Given the description of an element on the screen output the (x, y) to click on. 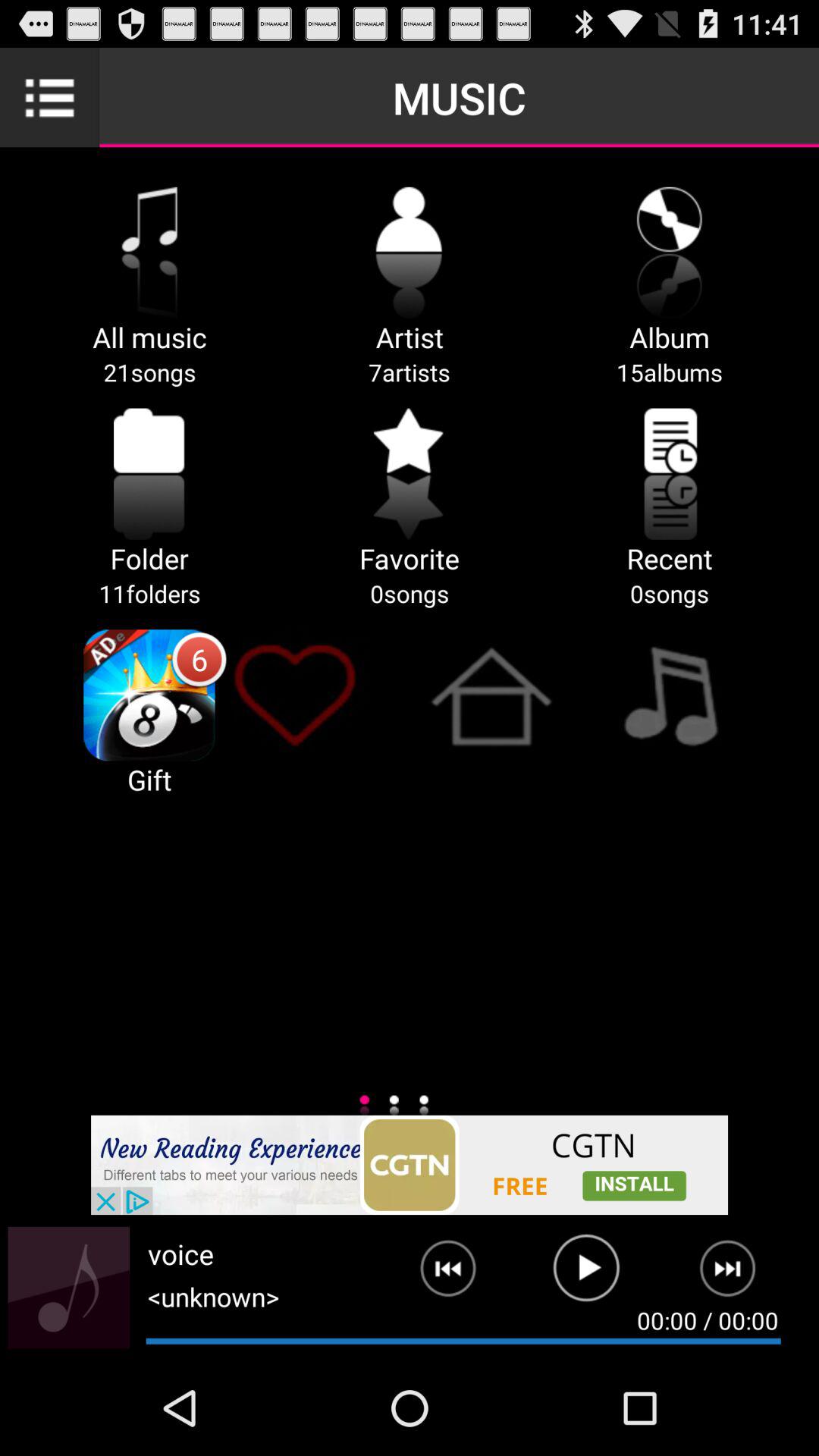
previous track (436, 1274)
